Given the description of an element on the screen output the (x, y) to click on. 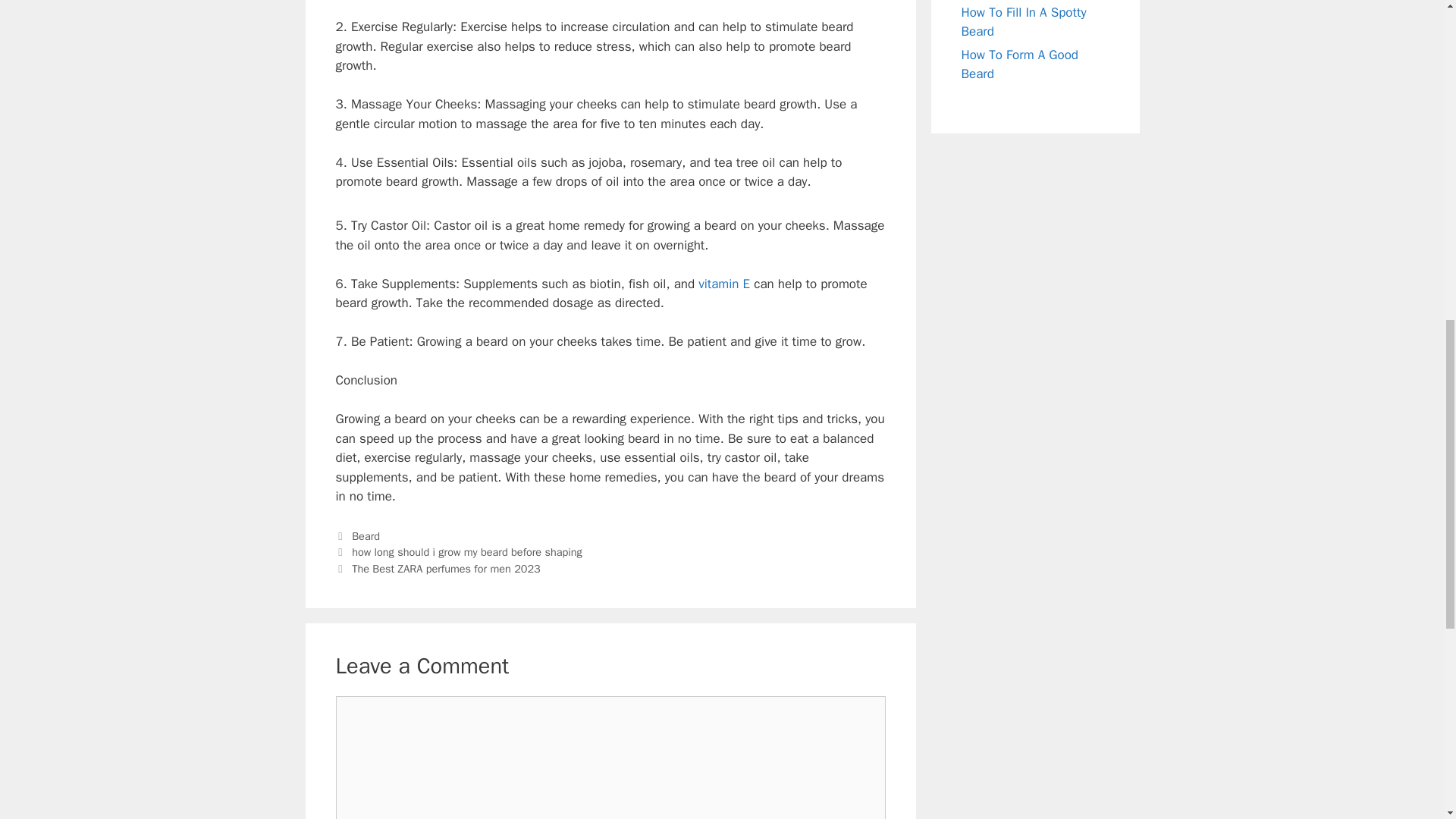
vitamin E (723, 283)
how long should i grow my beard before shaping (467, 551)
vitamin E (723, 283)
The Best ZARA perfumes for men 2023 (446, 568)
How To Form A Good Beard (1019, 64)
How To Fill In A Spotty Beard (1023, 22)
Beard (366, 535)
